Given the description of an element on the screen output the (x, y) to click on. 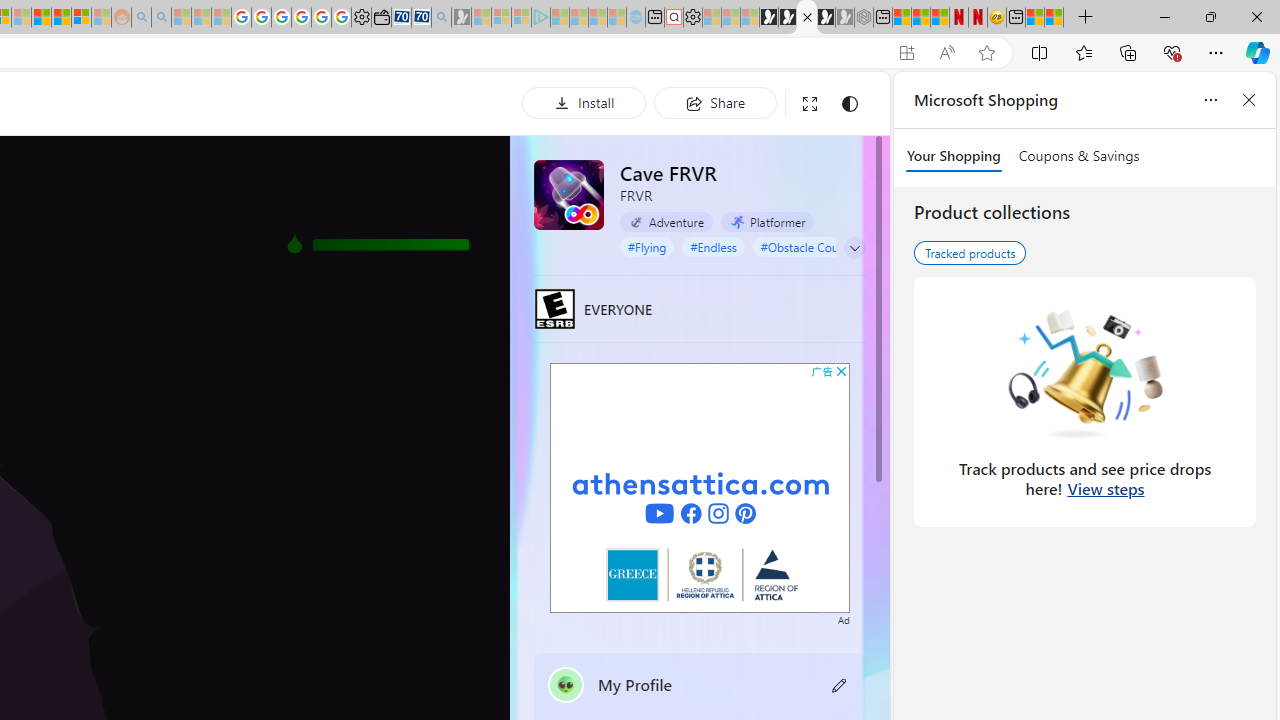
Microsoft Start - Sleeping (597, 17)
#Endless (713, 246)
Change to dark mode (849, 103)
Cave FRVR (568, 194)
Play Free Online Games | Games from Microsoft Start (769, 17)
Platformer (767, 221)
Utah sues federal government - Search - Sleeping (161, 17)
